Given the description of an element on the screen output the (x, y) to click on. 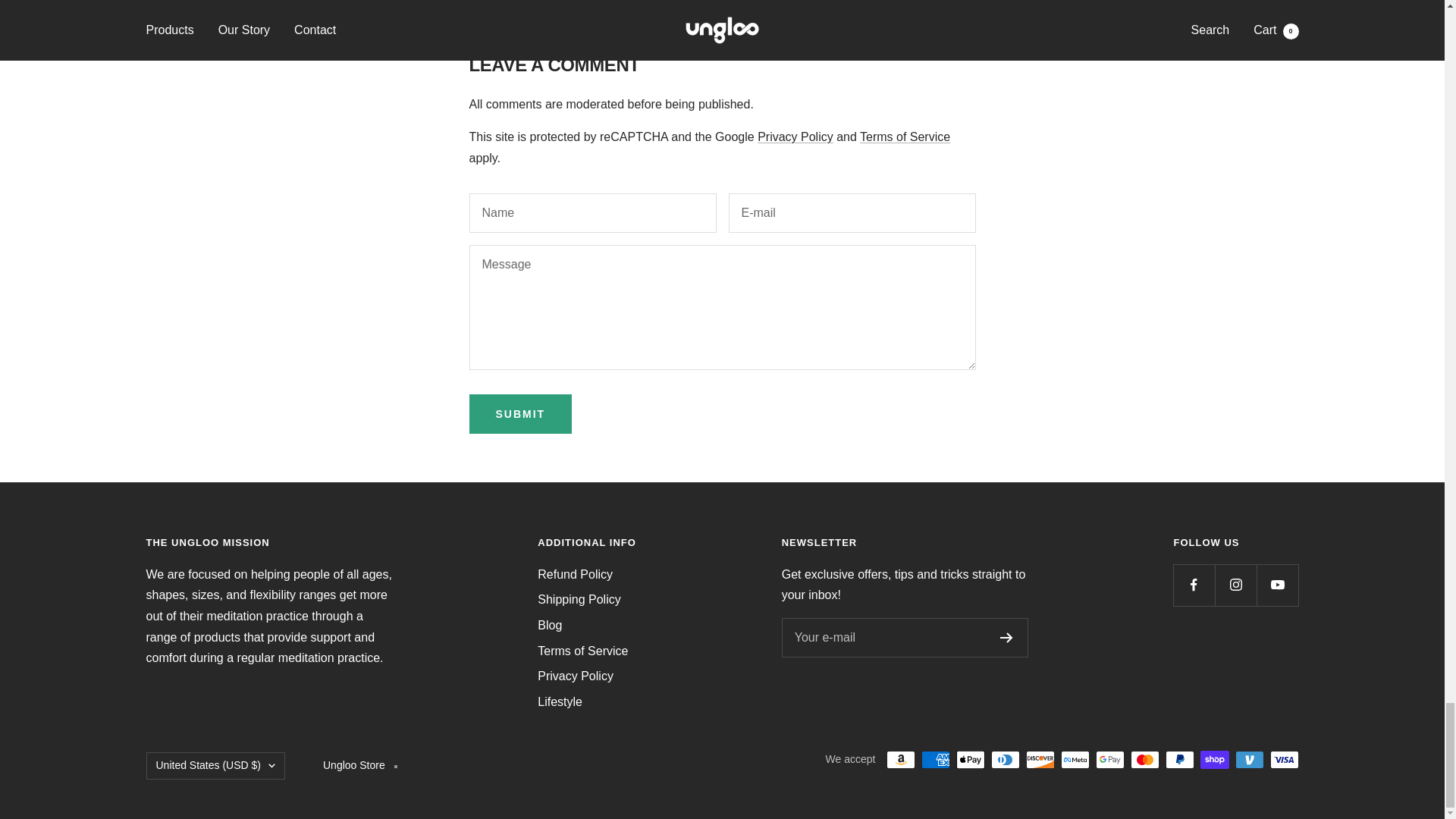
Register (1006, 637)
